Given the description of an element on the screen output the (x, y) to click on. 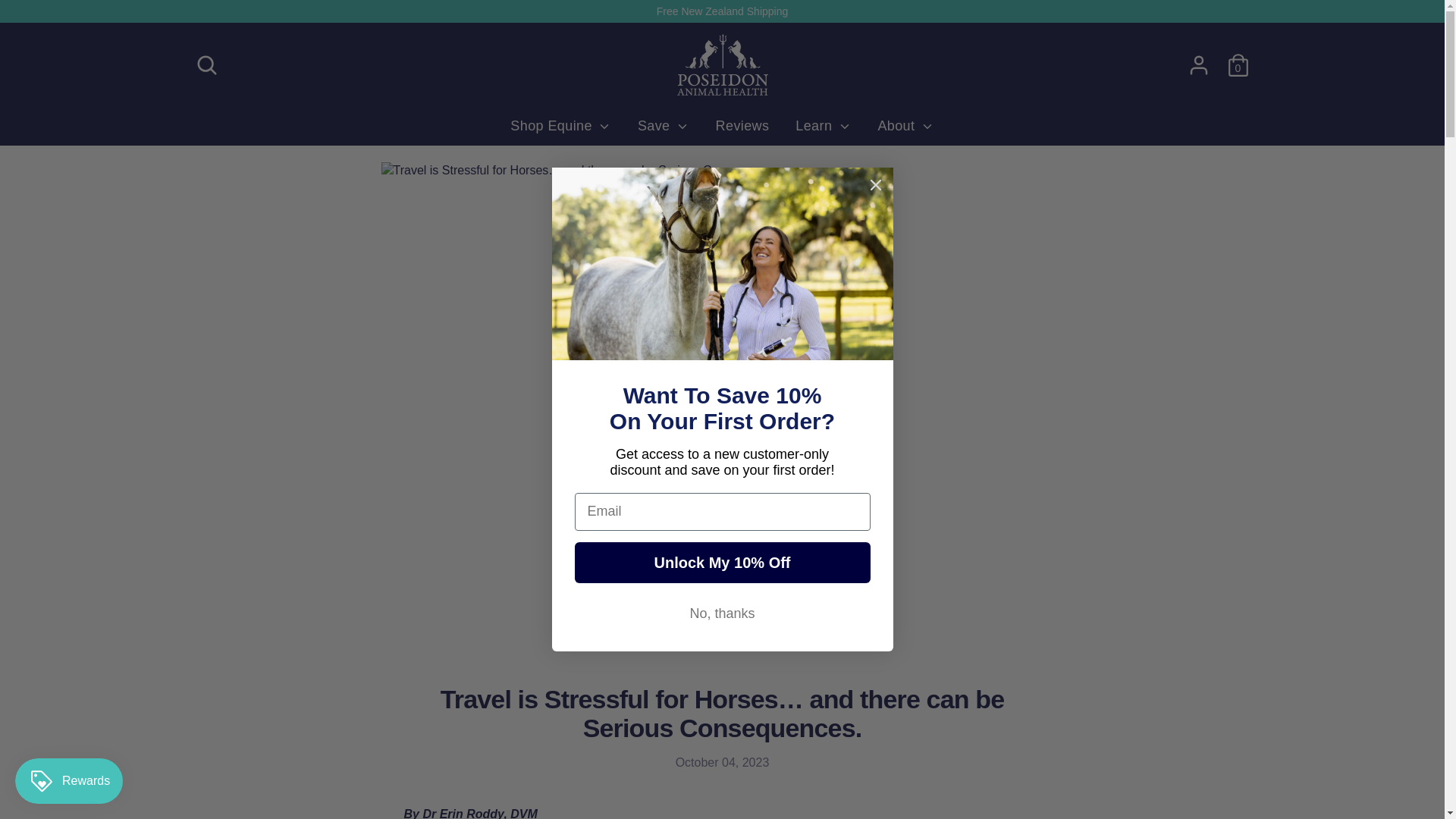
Smile.io Rewards Program Launcher (68, 780)
0 (1237, 64)
Search (205, 64)
